Given the description of an element on the screen output the (x, y) to click on. 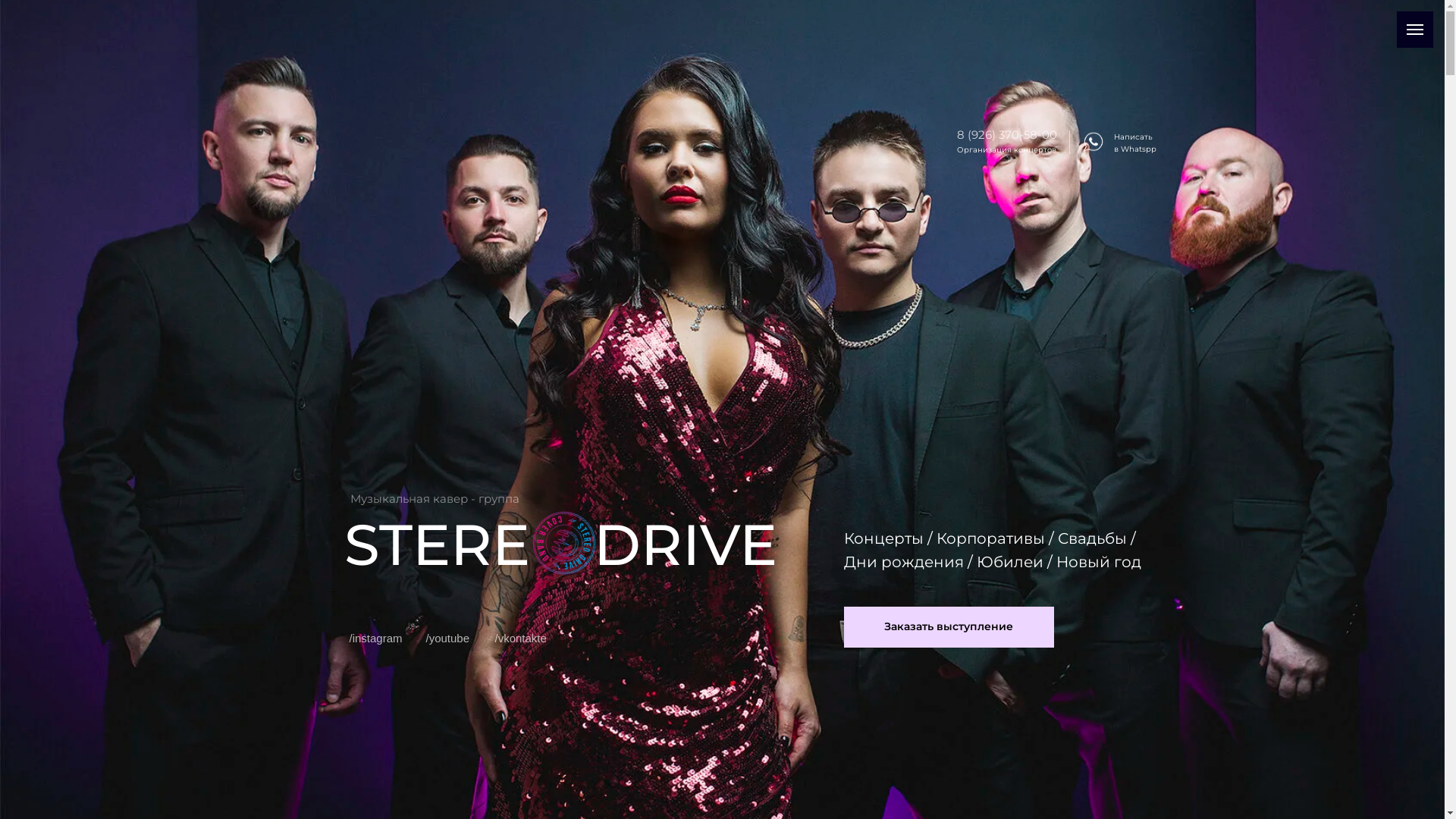
8 (926) 370-58-00 Element type: text (1007, 134)
/instagram Element type: text (374, 637)
/youtube Element type: text (448, 637)
/vkontakte Element type: text (520, 637)
